Given the description of an element on the screen output the (x, y) to click on. 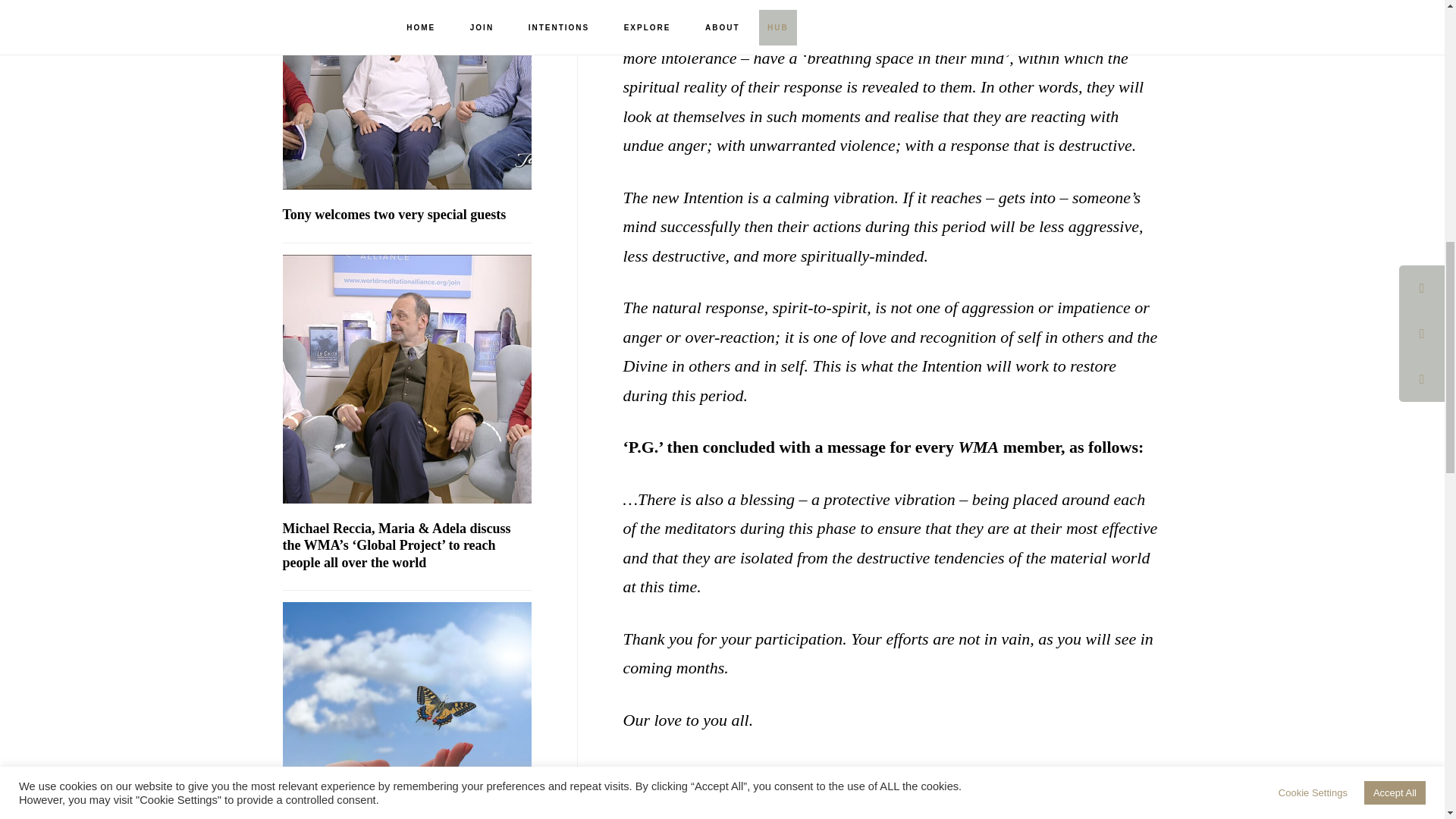
Tony welcomes two very special guests (393, 214)
